Given the description of an element on the screen output the (x, y) to click on. 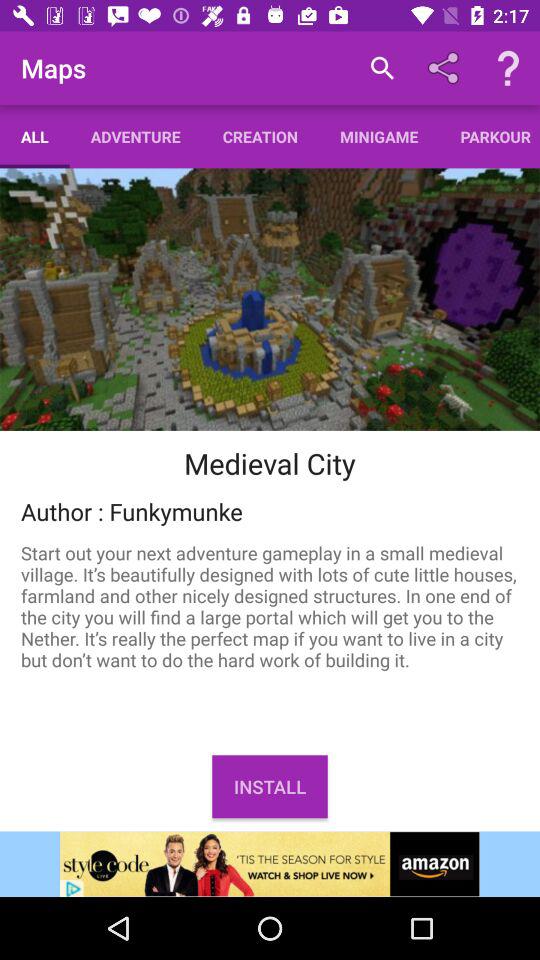
help (508, 67)
